Given the description of an element on the screen output the (x, y) to click on. 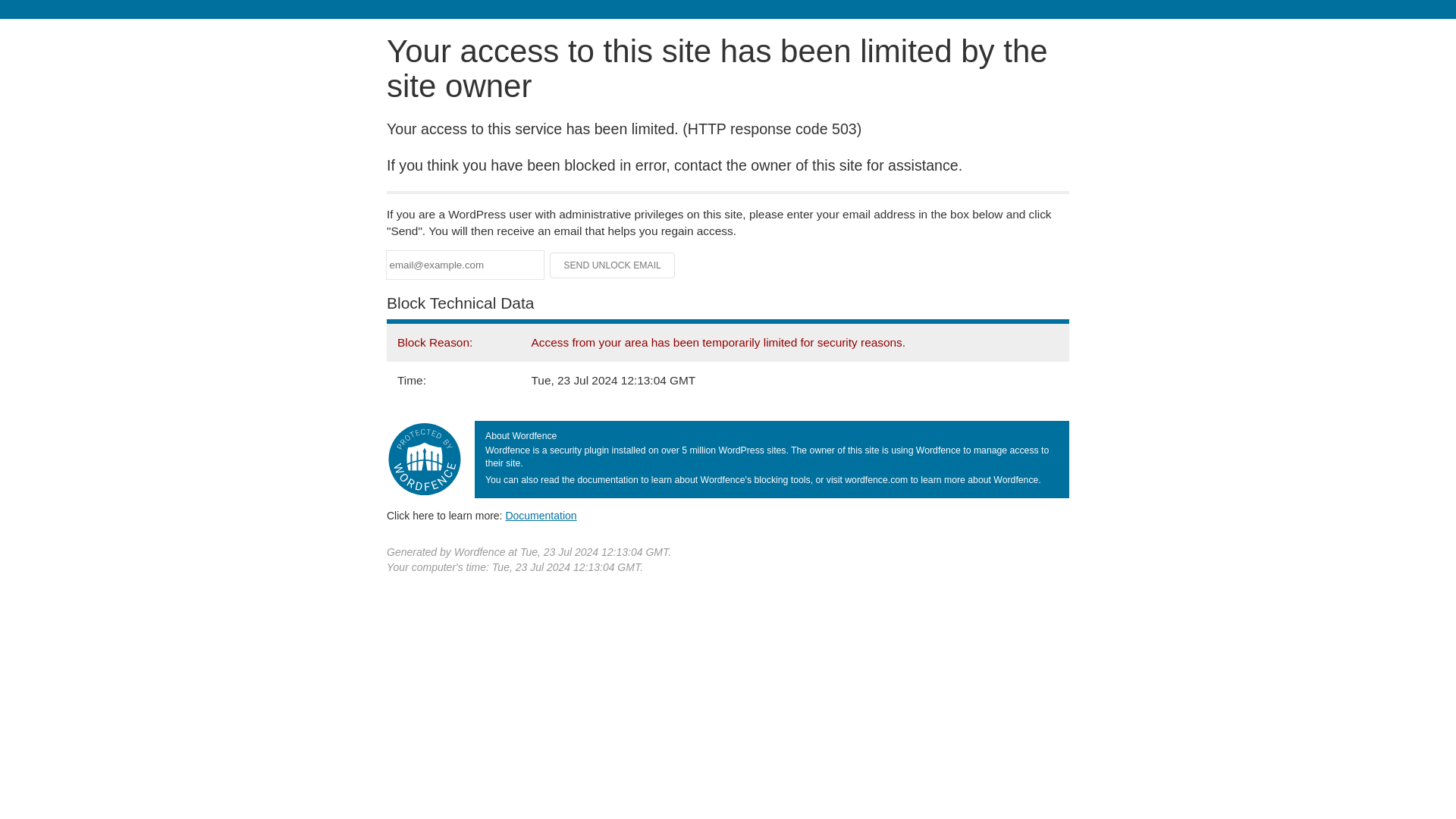
Documentation (540, 515)
Send Unlock Email (612, 265)
Send Unlock Email (612, 265)
